Given the description of an element on the screen output the (x, y) to click on. 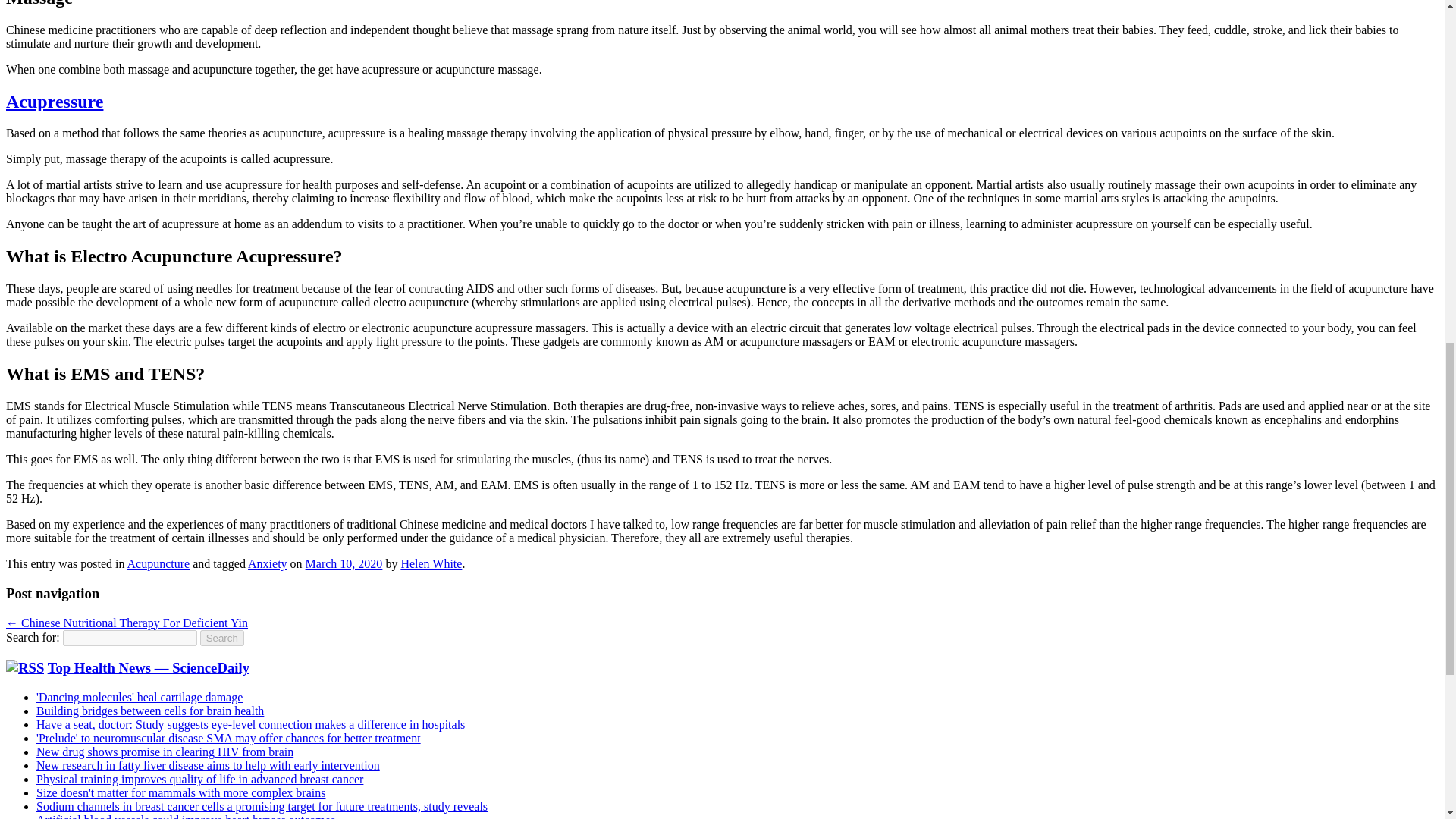
'Dancing molecules' heal cartilage damage (139, 697)
Acupuncture (159, 563)
Acupressure (54, 101)
Size doesn't matter for mammals with more complex brains (180, 792)
New drug shows promise in clearing HIV from brain (165, 751)
Artificial blood vessels could improve heart bypass outcomes (185, 816)
8:44 PM (343, 563)
Anxiety (266, 563)
View all posts by Helen White (430, 563)
Helen White (430, 563)
